Given the description of an element on the screen output the (x, y) to click on. 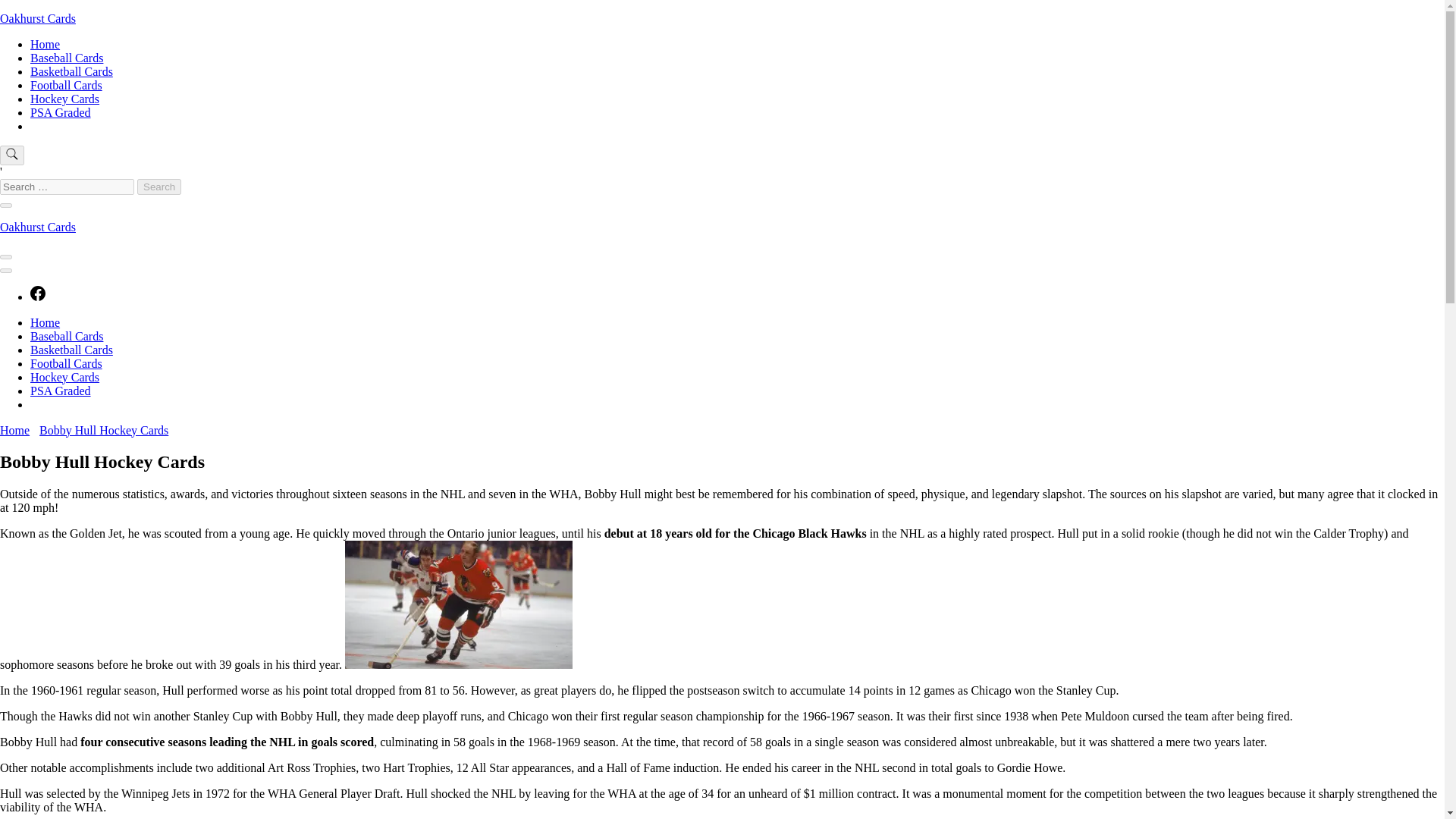
Baseball Cards (66, 336)
Football Cards (65, 84)
Hockey Cards (64, 98)
Oakhurst Cards (37, 18)
Home (14, 430)
Basketball Cards (71, 71)
Search (158, 186)
Basketball Cards (71, 349)
PSA Graded (60, 112)
Home (44, 43)
